Given the description of an element on the screen output the (x, y) to click on. 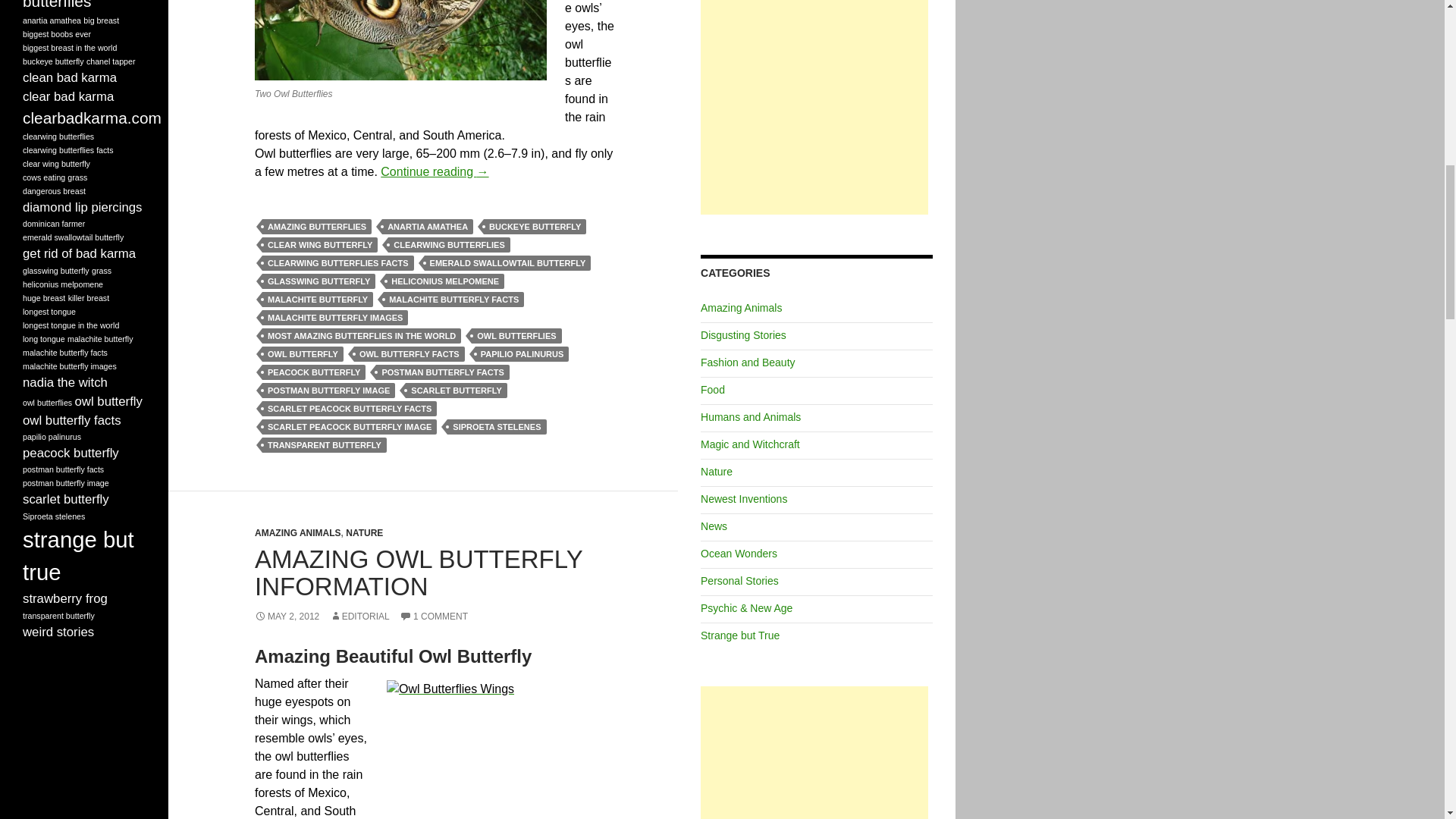
ANARTIA AMATHEA (427, 226)
CLEAR WING BUTTERFLY (319, 244)
BUCKEYE BUTTERFLY (534, 226)
MALACHITE BUTTERFLY (317, 299)
AMAZING BUTTERFLIES (316, 226)
MALACHITE BUTTERFLY FACTS (454, 299)
GLASSWING BUTTERFLY (318, 281)
Owl Butterfly (400, 40)
HELICONIUS MELPOMENE (444, 281)
Owl Butterflies Wings (500, 749)
EMERALD SWALLOWTAIL BUTTERFLY (508, 263)
CLEARWING BUTTERFLIES (448, 244)
CLEARWING BUTTERFLIES FACTS (337, 263)
